Given the description of an element on the screen output the (x, y) to click on. 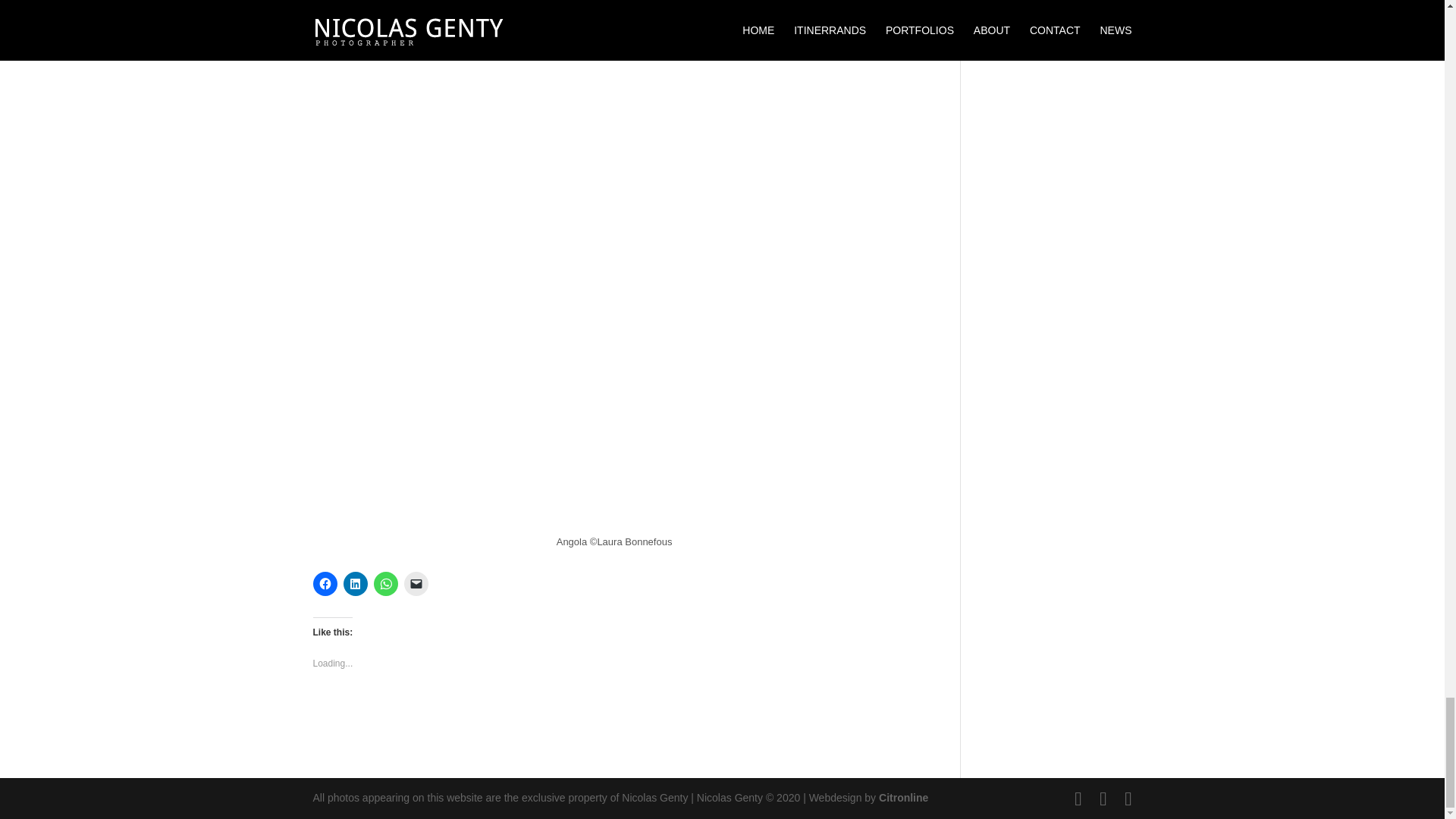
Citronline (903, 797)
